Given the description of an element on the screen output the (x, y) to click on. 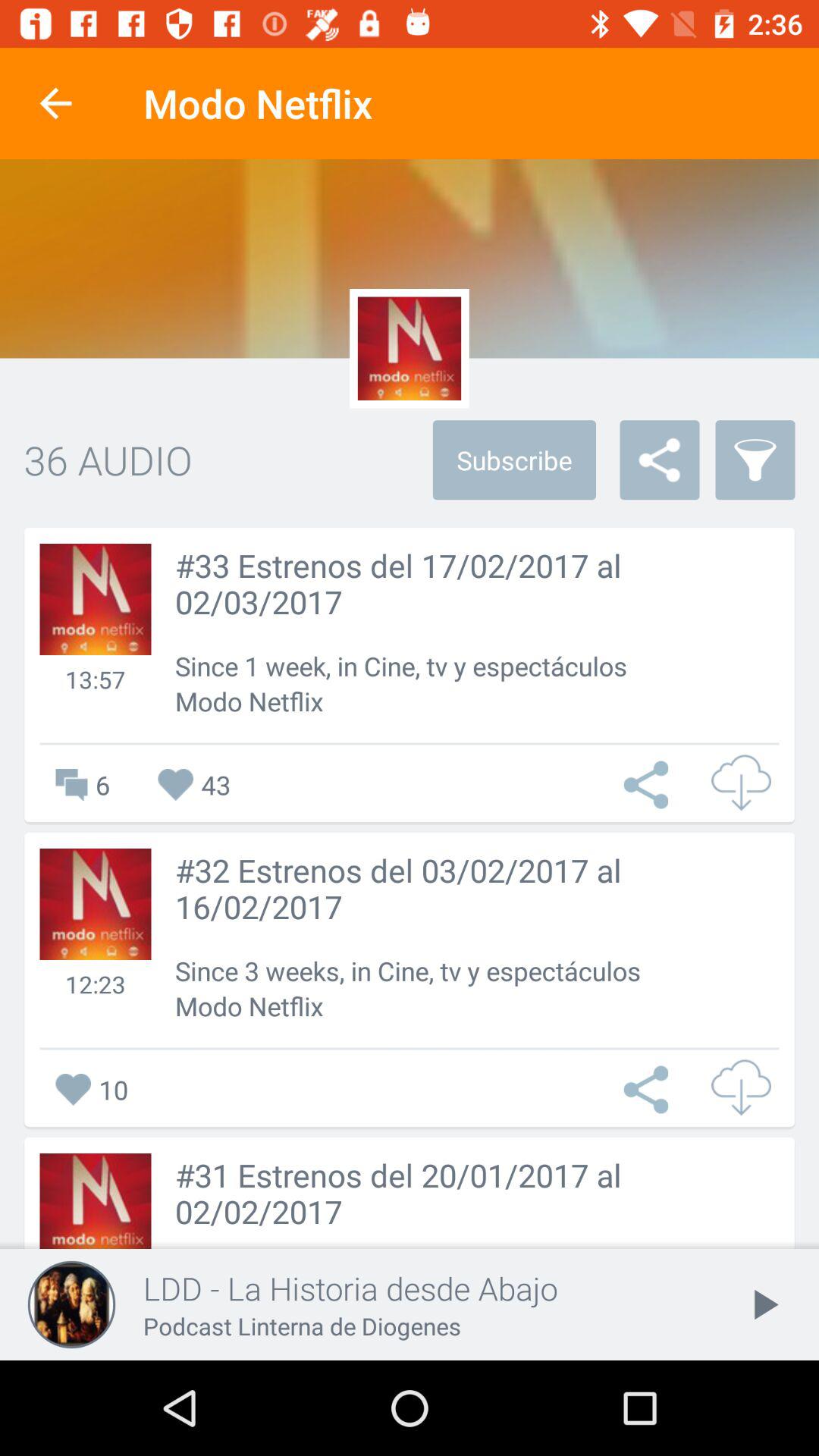
click icon next to the modo netflix (55, 103)
